Given the description of an element on the screen output the (x, y) to click on. 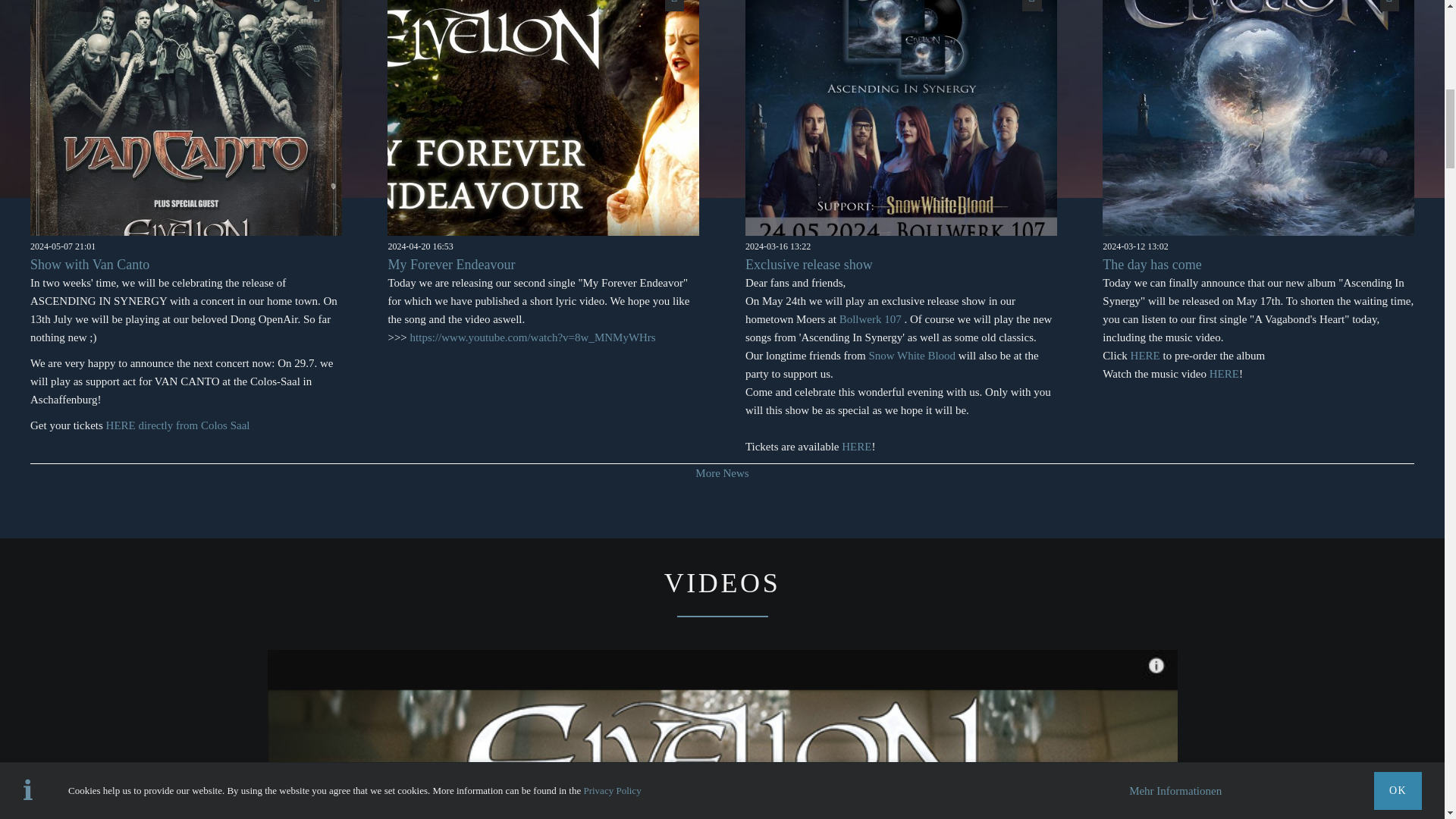
More News (721, 472)
Snow White Blood (911, 355)
Bollwerk 107 (870, 318)
HERE directly from Colos Saal (178, 425)
HERE (1224, 373)
HERE (855, 446)
HERE (1145, 355)
